Given the description of an element on the screen output the (x, y) to click on. 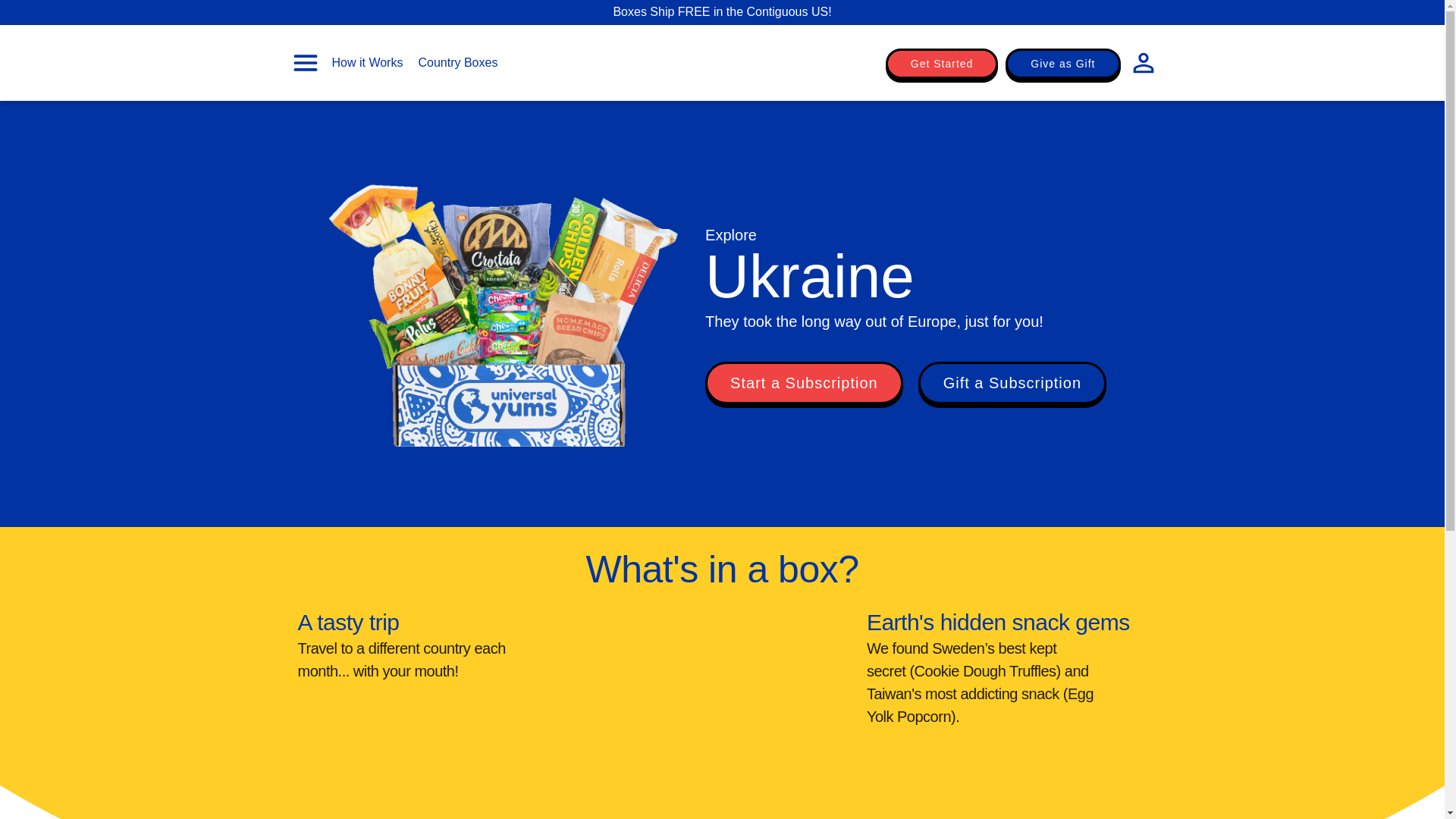
Universal Yums (722, 63)
How it Works (367, 62)
Start a Subscription (803, 382)
Gift a Subscription (1012, 382)
Country Boxes (457, 62)
Get Started (941, 63)
Give as Gift (1062, 63)
